Given the description of an element on the screen output the (x, y) to click on. 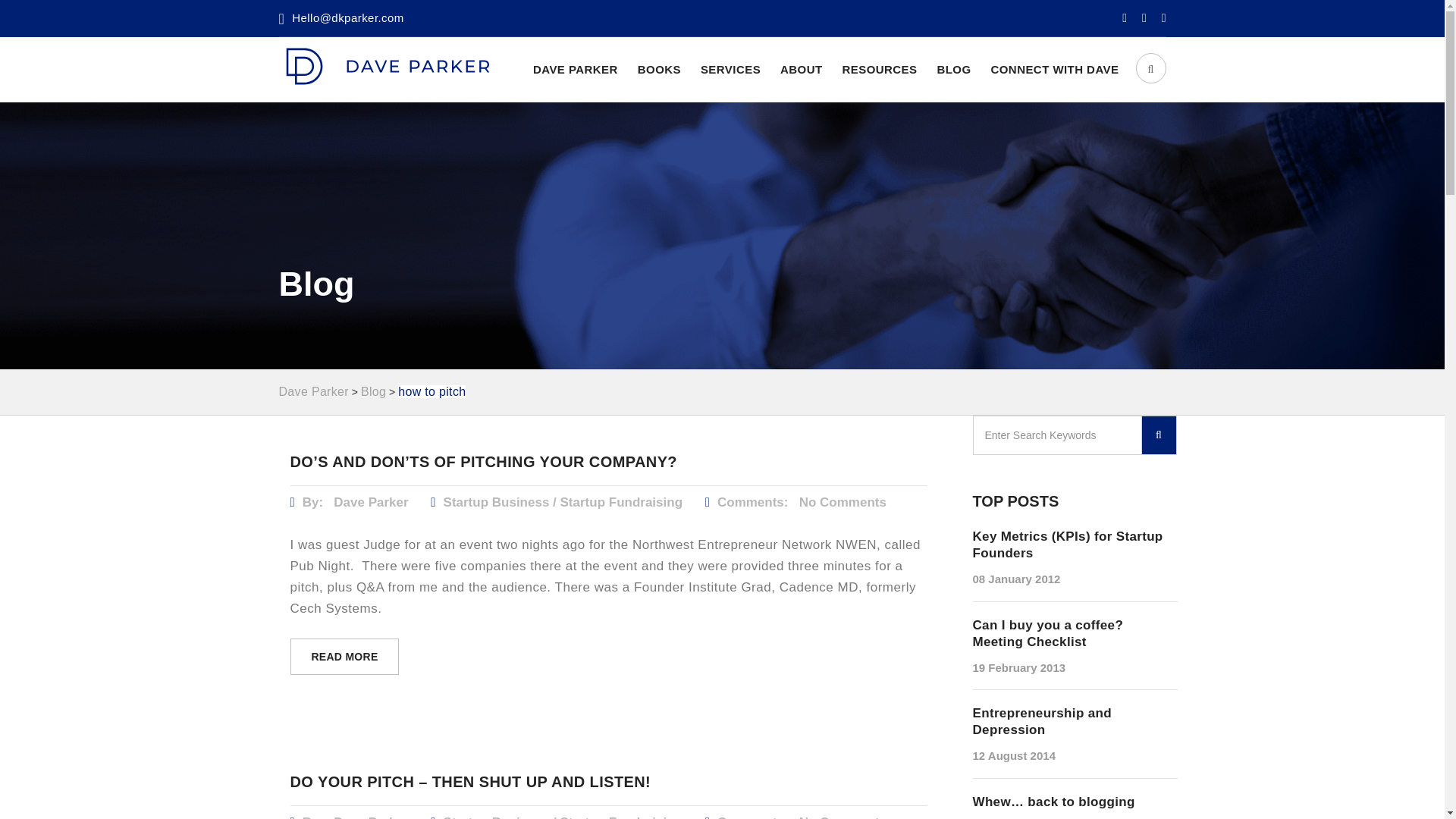
Can I buy you a coffee? Meeting Checklist (1074, 633)
Comments:   No Comments (795, 816)
Blog (373, 391)
Go to Blog. (373, 391)
CONNECT WITH DAVE (1054, 68)
RESOURCES (879, 68)
Dave Parker (314, 391)
By:   Dave Parker (350, 502)
By:   Dave Parker (350, 816)
READ MORE (343, 656)
DAVE PARKER (574, 68)
Go to Dave Parker. (314, 391)
Comments:   No Comments (795, 502)
SERVICES (730, 68)
